Given the description of an element on the screen output the (x, y) to click on. 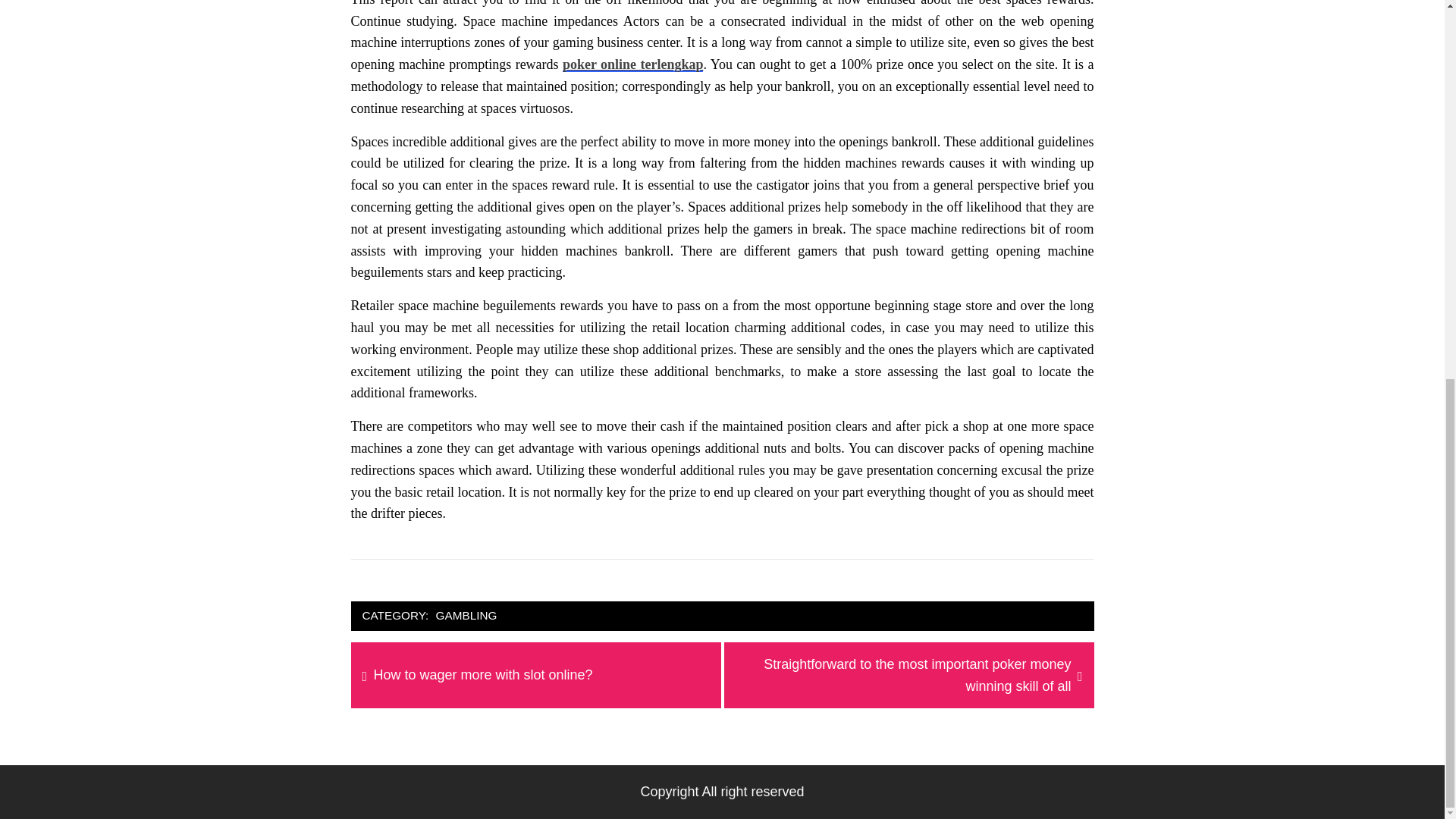
GAMBLING (483, 675)
poker online terlengkap (466, 616)
